Given the description of an element on the screen output the (x, y) to click on. 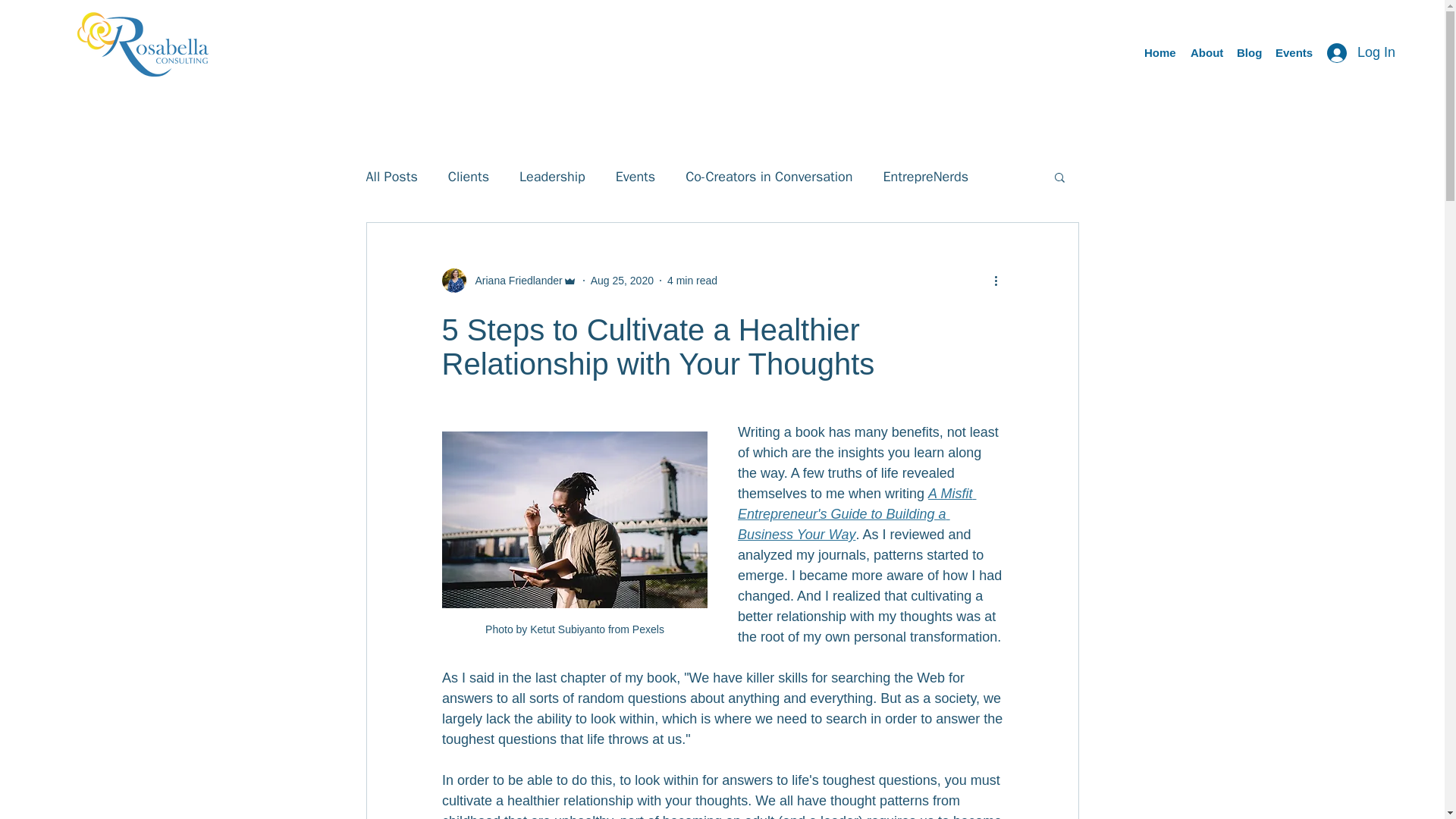
EntrepreNerds (926, 176)
Ariana Friedlander (508, 280)
Co-Creators in Conversation (768, 176)
Photo by Ketut Subiyanto from Pexels (573, 541)
Events (635, 176)
Leadership (552, 176)
Blog (1248, 52)
Ariana Friedlander (513, 280)
Aug 25, 2020 (622, 280)
Events (1292, 52)
